Given the description of an element on the screen output the (x, y) to click on. 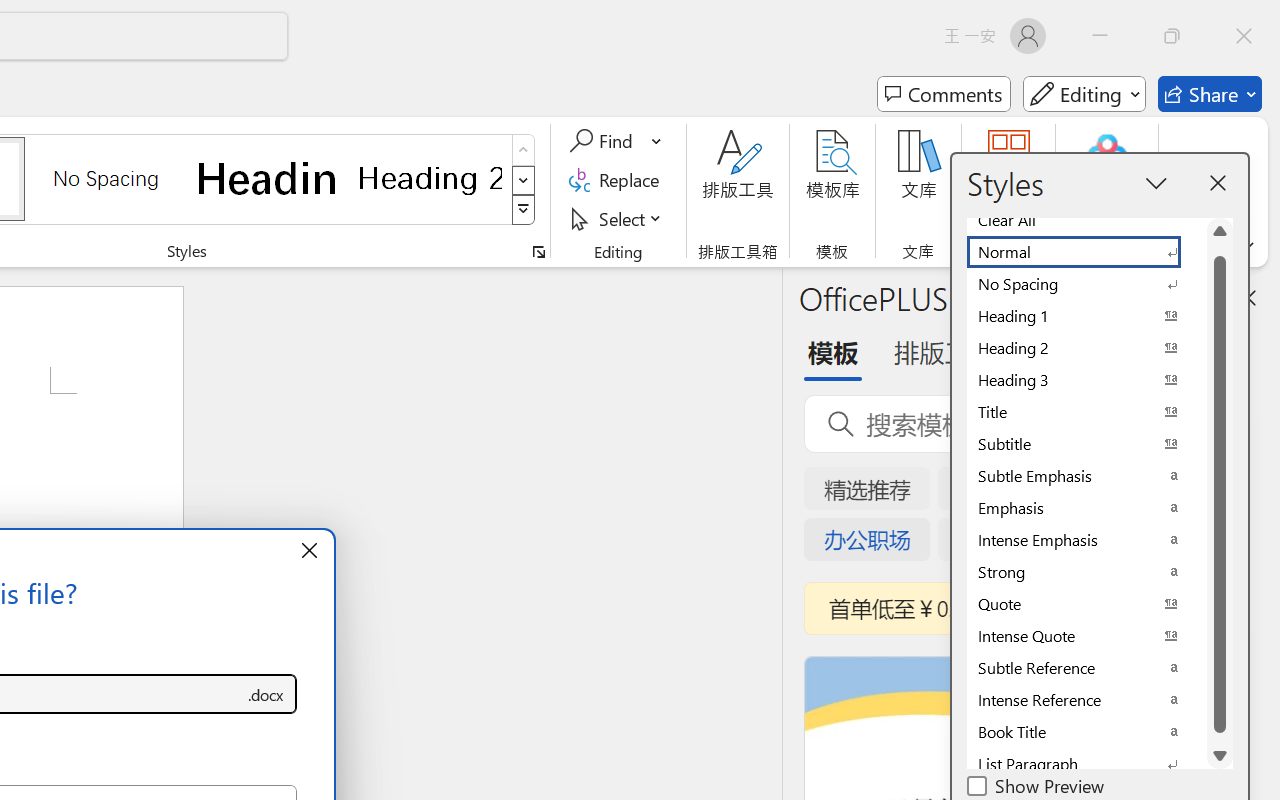
Heading 3 (1086, 380)
Minimize (1099, 36)
Save as type (265, 694)
Task Pane Options (1186, 297)
Heading 2 (429, 178)
Normal (1086, 252)
Styles... (538, 252)
Strong (1086, 572)
Restore Down (1172, 36)
